Given the description of an element on the screen output the (x, y) to click on. 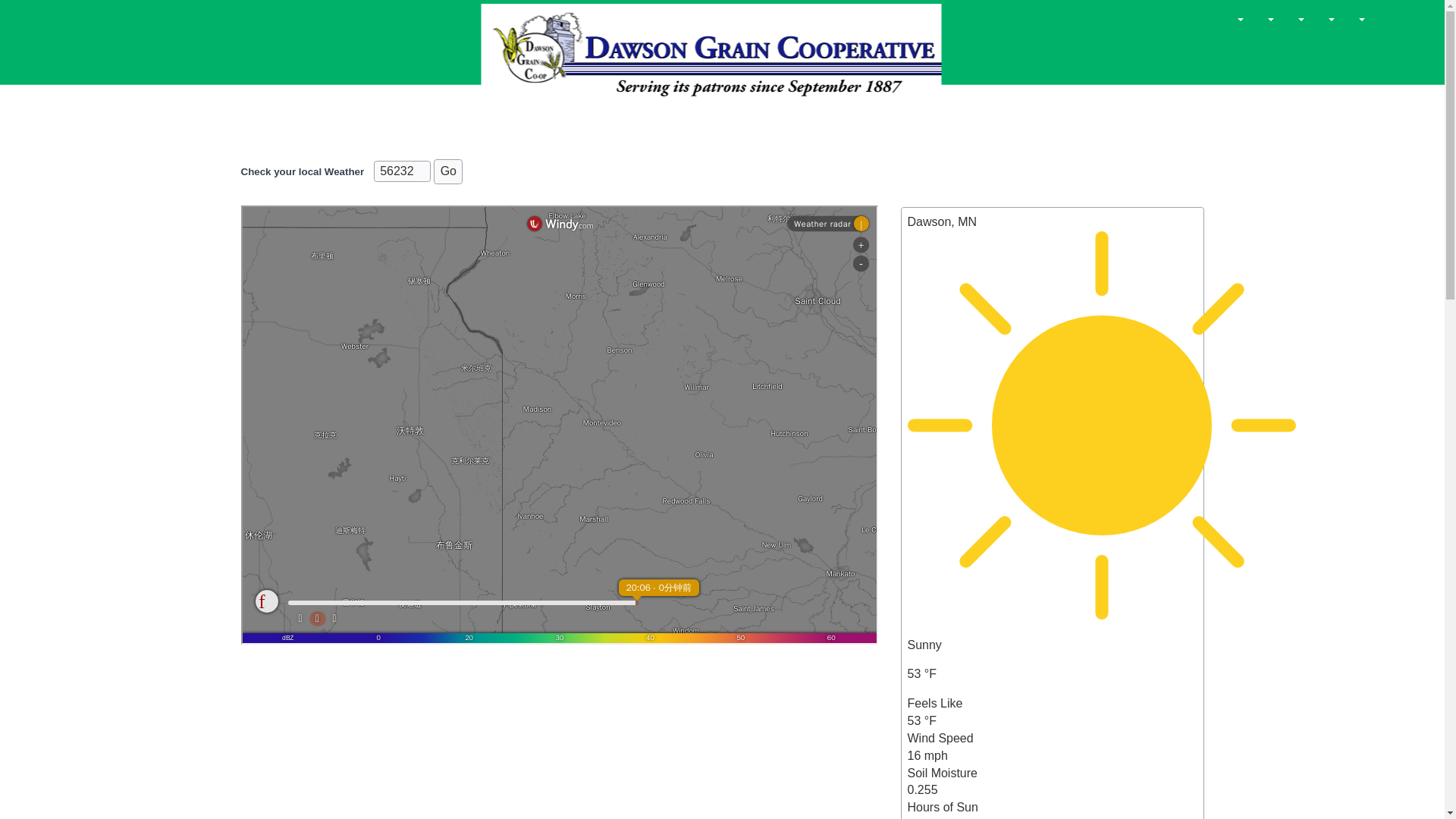
56232 (402, 170)
ABOUT US (362, 57)
HOME (283, 57)
Go (448, 171)
